Given the description of an element on the screen output the (x, y) to click on. 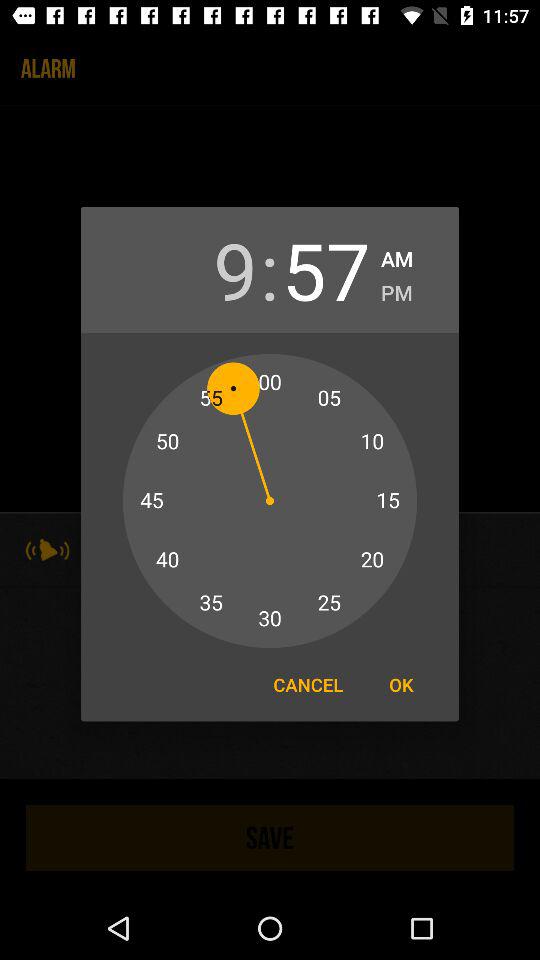
scroll to cancel item (308, 684)
